Given the description of an element on the screen output the (x, y) to click on. 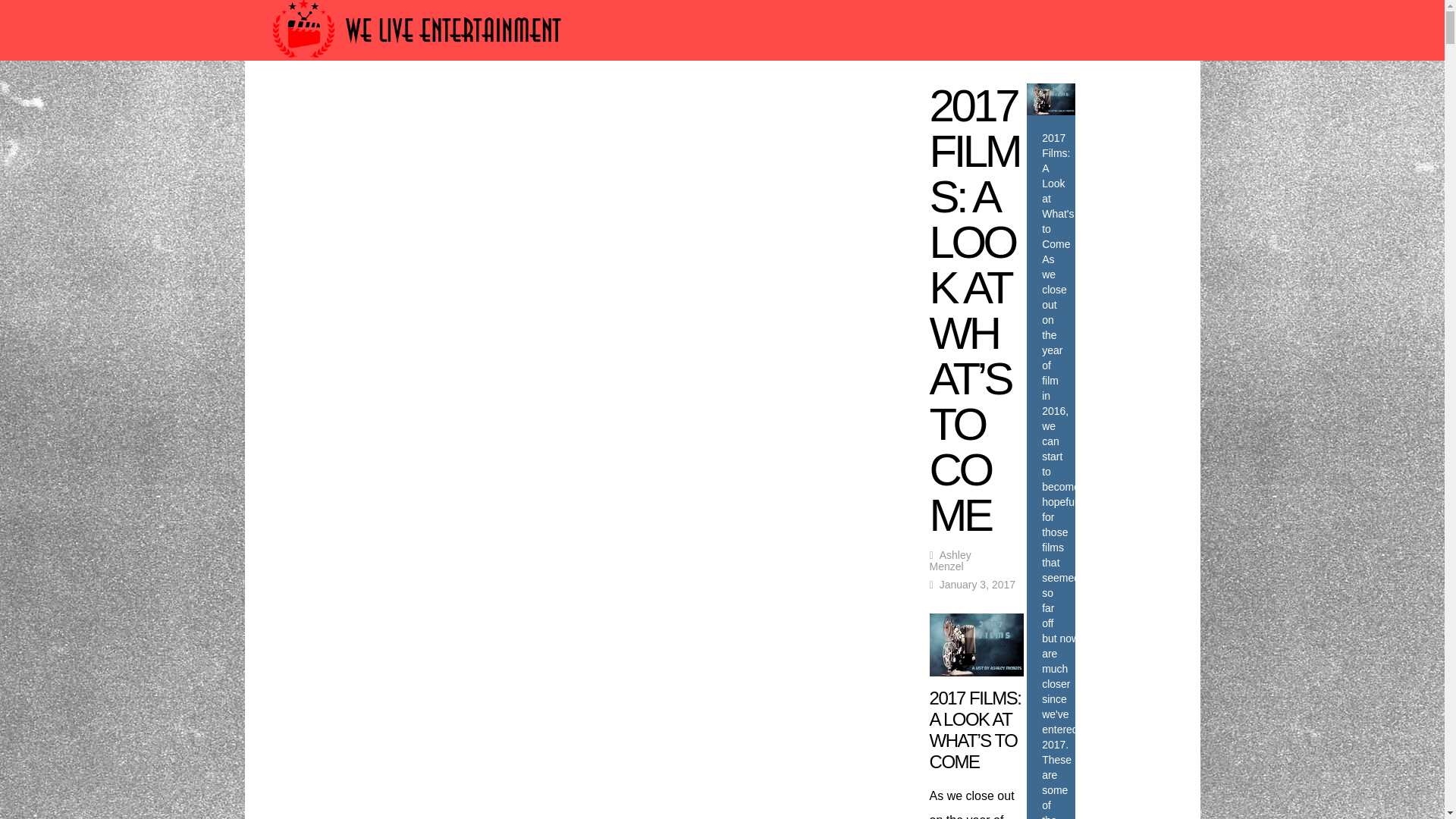
WE LIVE ENTERTAINMENT (841, 103)
WE LIVE AWARDS (421, 103)
WE LIVE TV SHOWS (671, 103)
WE LIVE FILM (542, 103)
HOME (325, 103)
We Live Entertainment (418, 63)
